Given the description of an element on the screen output the (x, y) to click on. 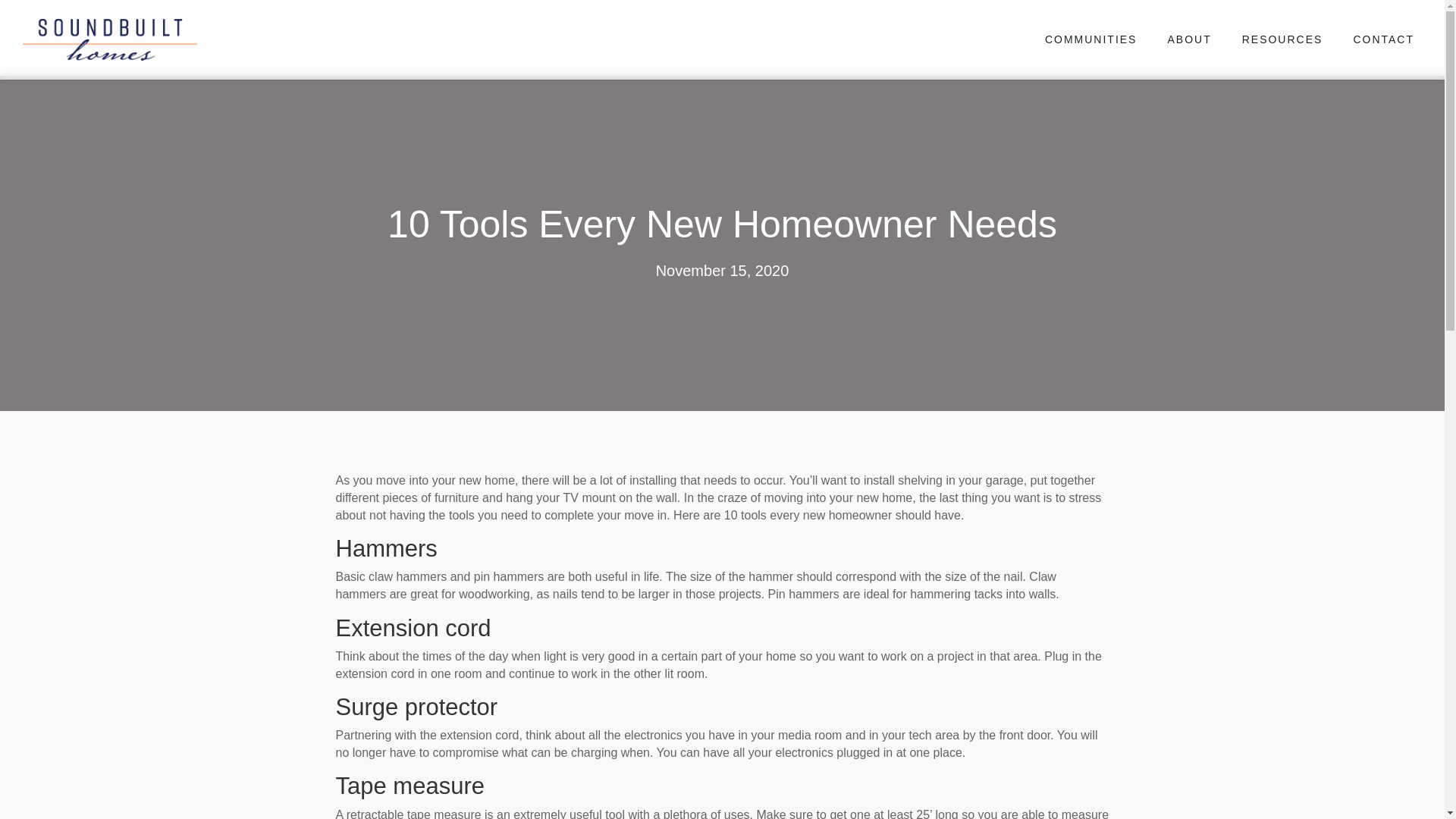
RESOURCES (1282, 40)
CONTACT (1383, 40)
ABOUT (1188, 40)
COMMUNITIES (1091, 40)
